Given the description of an element on the screen output the (x, y) to click on. 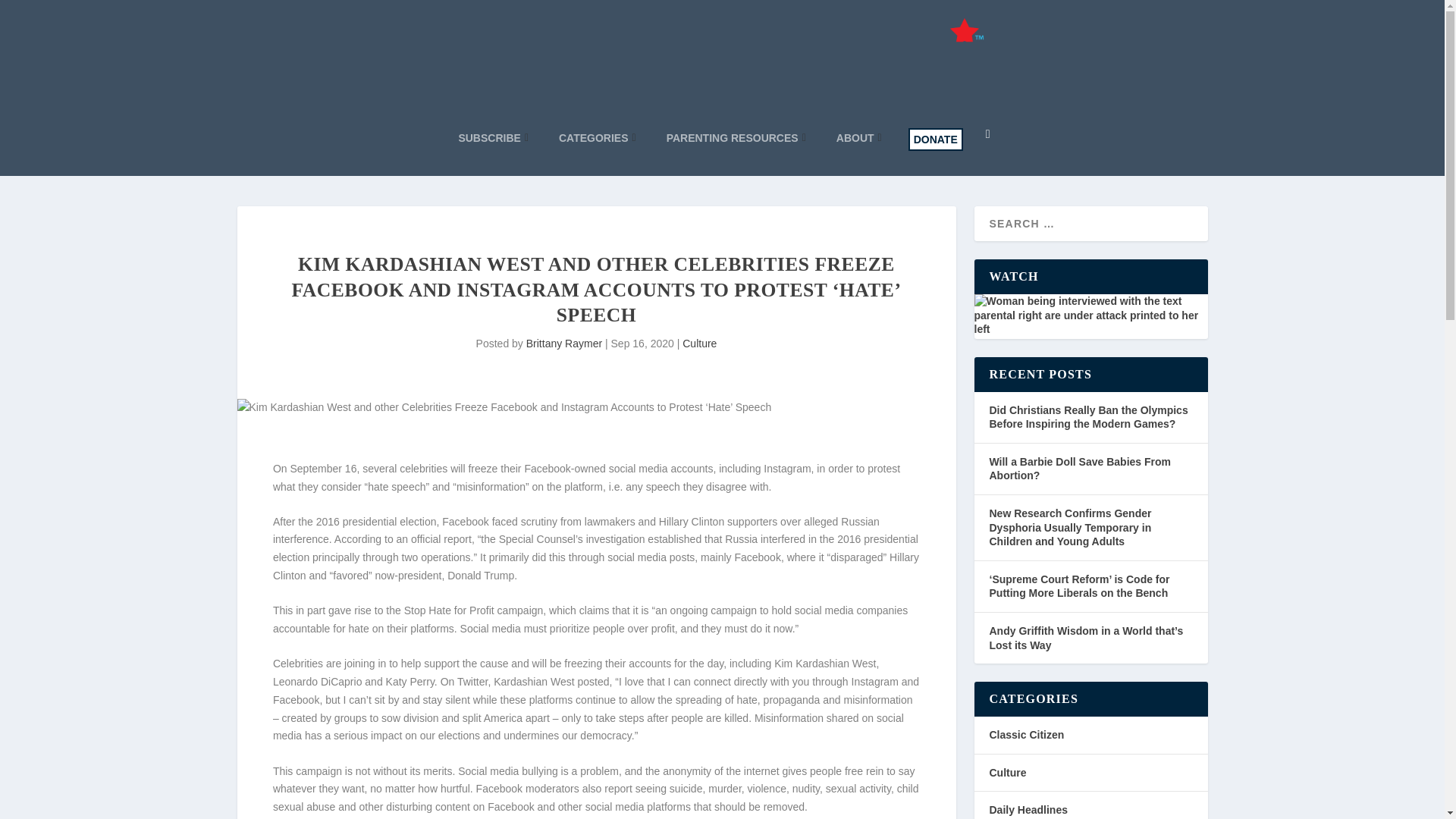
Culture (699, 343)
Stop Hate for Profit (449, 610)
report (617, 788)
freezing (583, 663)
official report (440, 539)
WATCH (1090, 314)
CATEGORIES (597, 137)
DONATE (935, 138)
Posts by Brittany Raymer (563, 343)
Brittany Raymer (563, 343)
PARENTING RESOURCES (735, 137)
ABOUT (858, 137)
Twitter (472, 681)
SUBSCRIBE (493, 137)
